Given the description of an element on the screen output the (x, y) to click on. 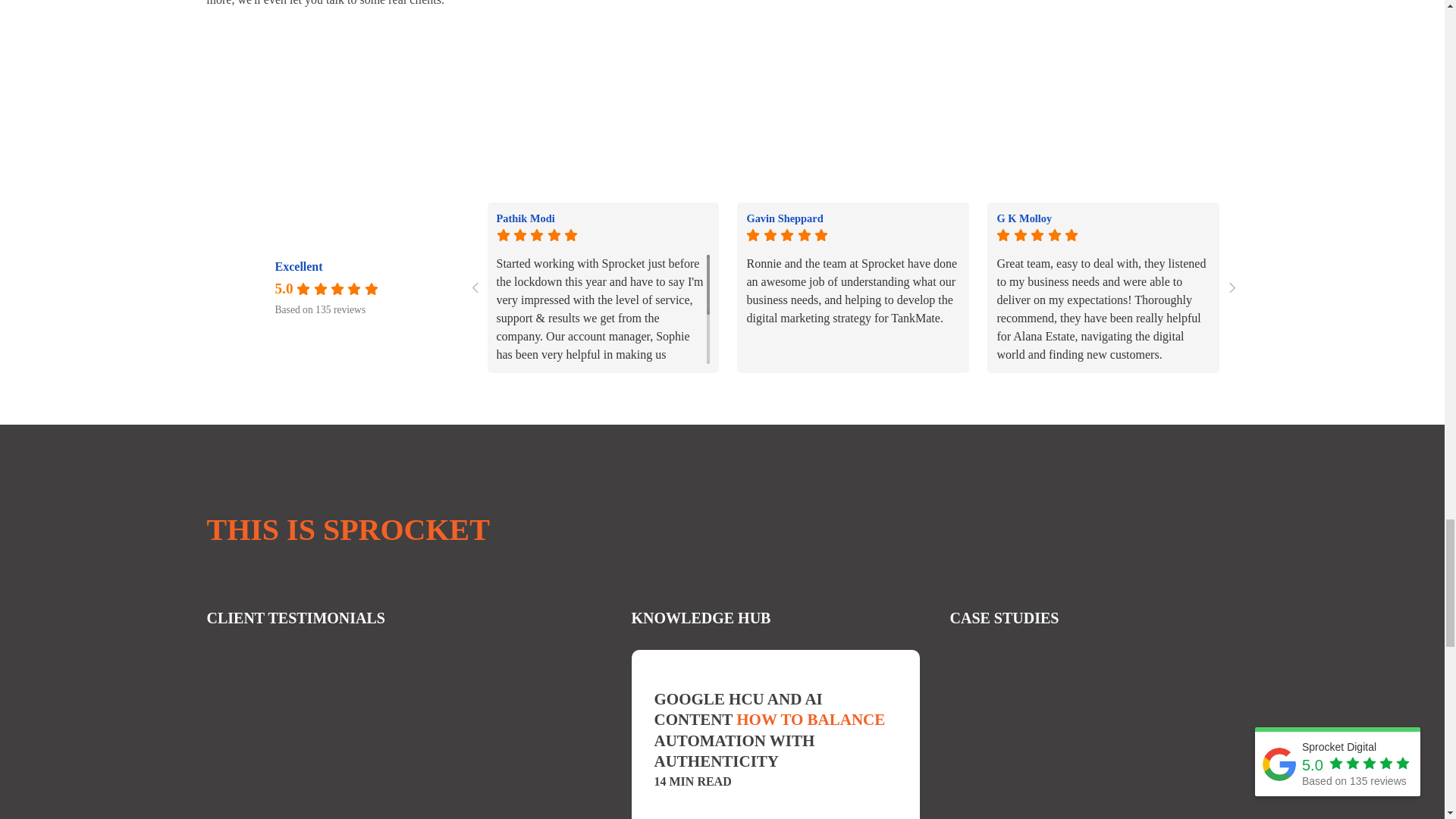
Pathik Modi (603, 218)
Gavin Sheppard (852, 218)
Sprocket Digital (245, 287)
G K Molloy (1102, 218)
YouTube video player (986, 60)
